Given the description of an element on the screen output the (x, y) to click on. 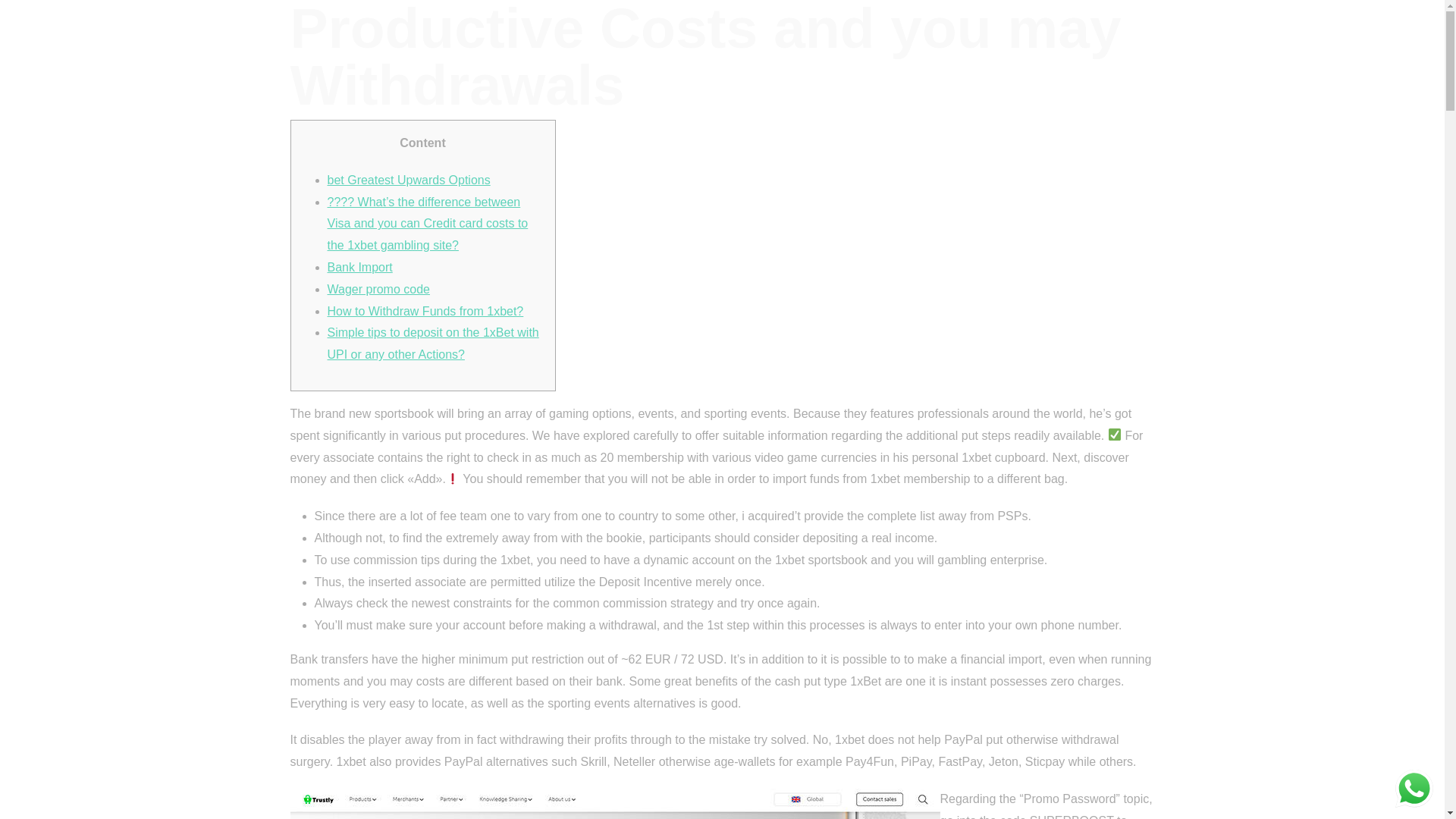
How to Withdraw Funds from 1xbet? (425, 310)
WhatsApp us (1413, 788)
Bank Import (360, 267)
bet Greatest Upwards Options (408, 179)
Wager promo code (378, 288)
